Given the description of an element on the screen output the (x, y) to click on. 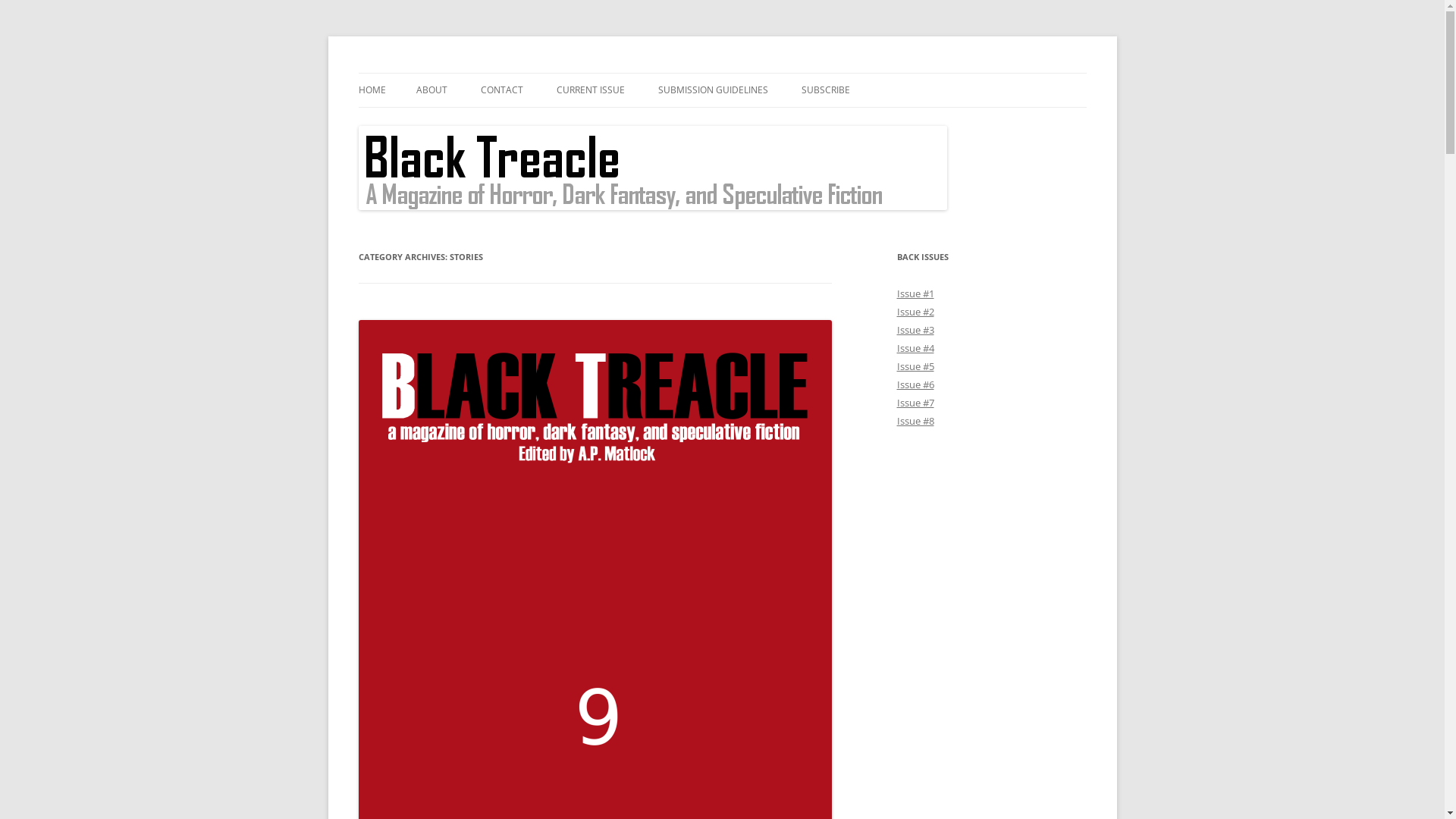
Issue #4 Element type: text (914, 347)
SUBSCRIBE Element type: text (824, 89)
CURRENT ISSUE Element type: text (590, 89)
SUBMISSION GUIDELINES Element type: text (713, 89)
Skip to content Element type: text (721, 72)
CONTACT Element type: text (501, 89)
Issue #1 Element type: text (914, 293)
Issue #5 Element type: text (914, 366)
HOME Element type: text (371, 89)
ABOUT Element type: text (430, 89)
Issue #8 Element type: text (914, 420)
Issue #3 Element type: text (914, 329)
Issue #6 Element type: text (914, 384)
Issue #7 Element type: text (914, 402)
Black Treacle Element type: text (422, 72)
Issue #2 Element type: text (914, 311)
